Given the description of an element on the screen output the (x, y) to click on. 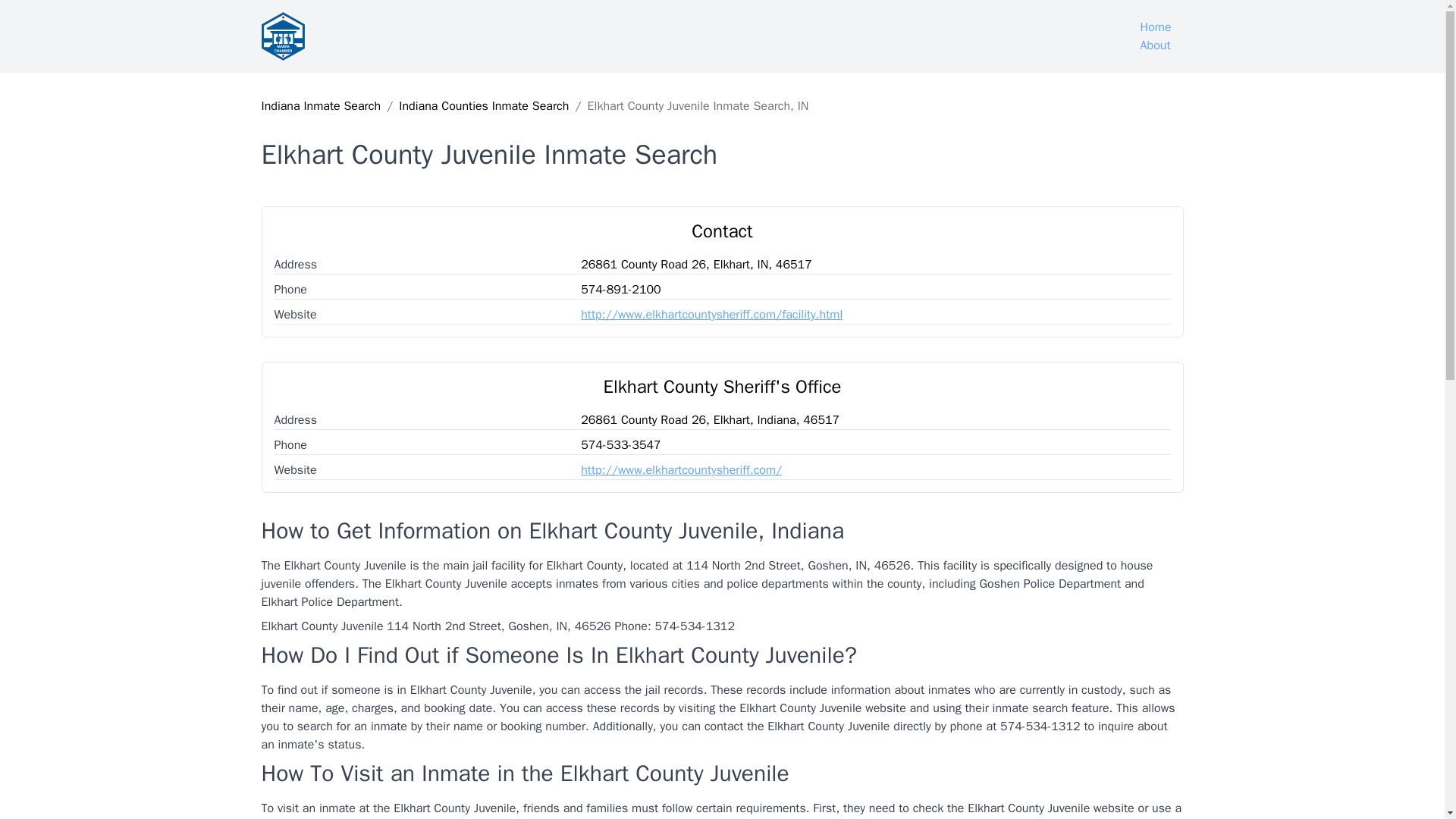
Home (1155, 26)
Indiana Inmate Search (320, 106)
About (1155, 44)
Indiana Counties Inmate Search (483, 106)
